Given the description of an element on the screen output the (x, y) to click on. 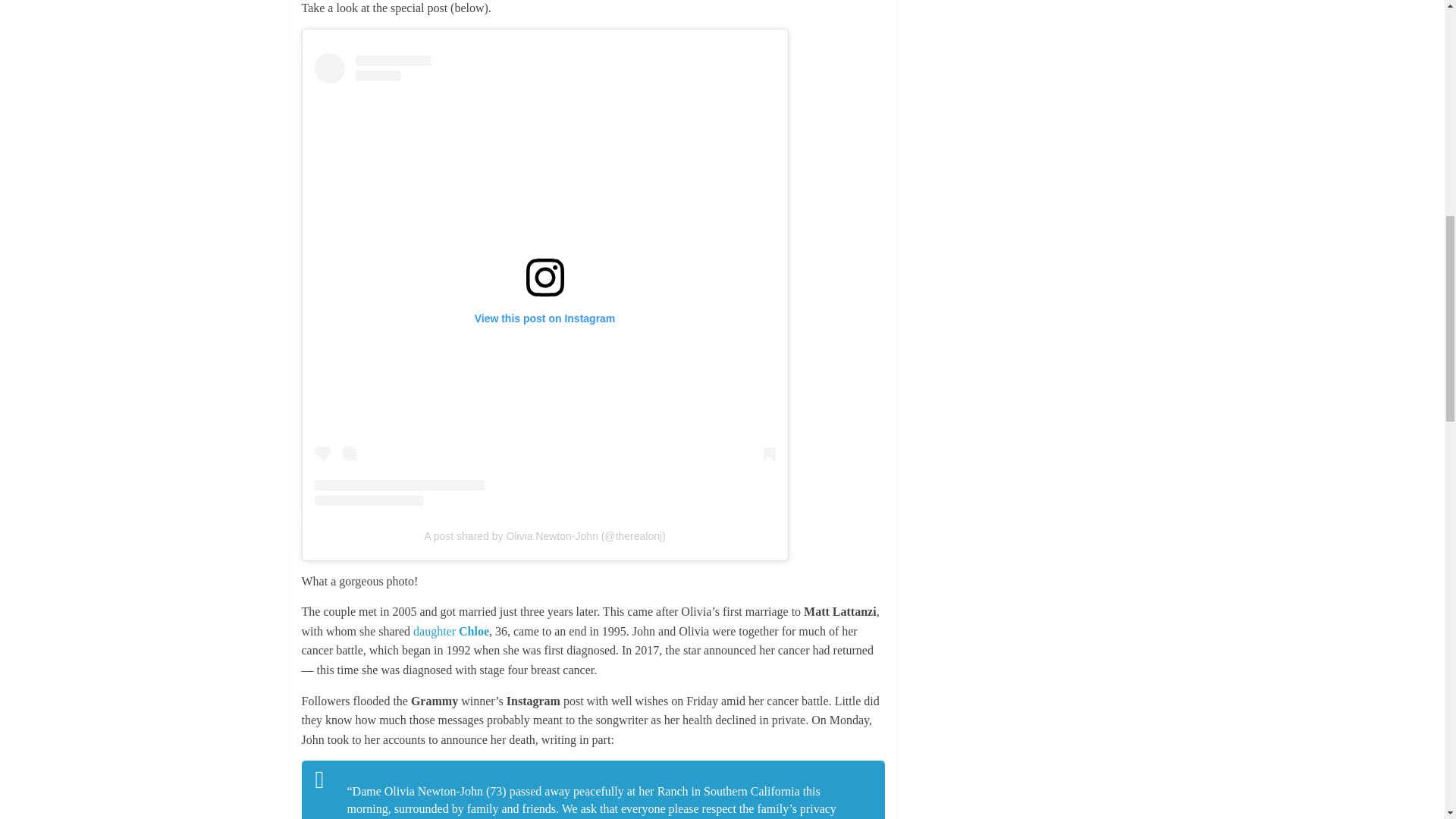
daughter Chloe (451, 631)
